Given the description of an element on the screen output the (x, y) to click on. 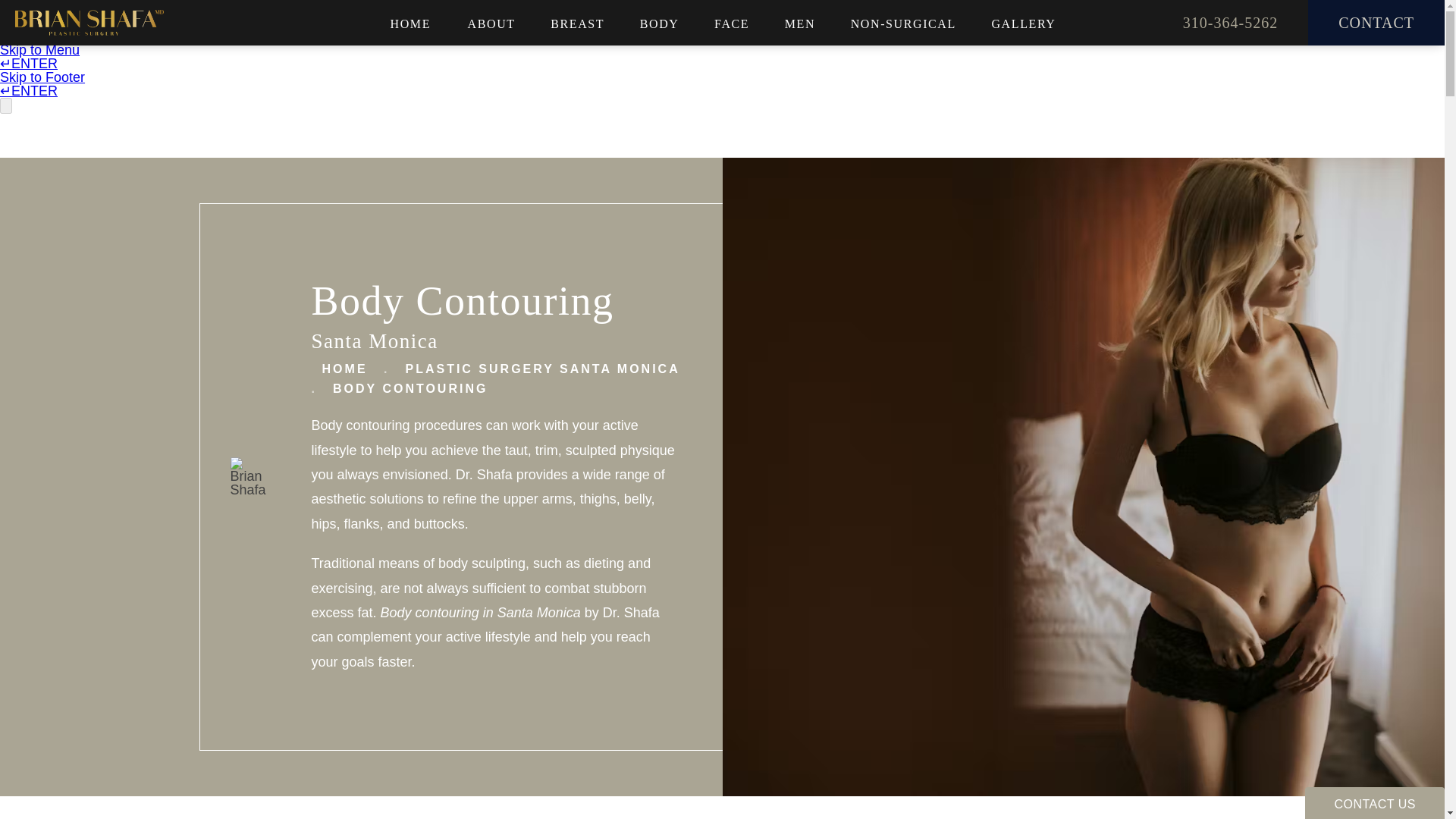
HOME (409, 24)
BREAST (577, 24)
BODY (659, 24)
ABOUT (491, 24)
